Given the description of an element on the screen output the (x, y) to click on. 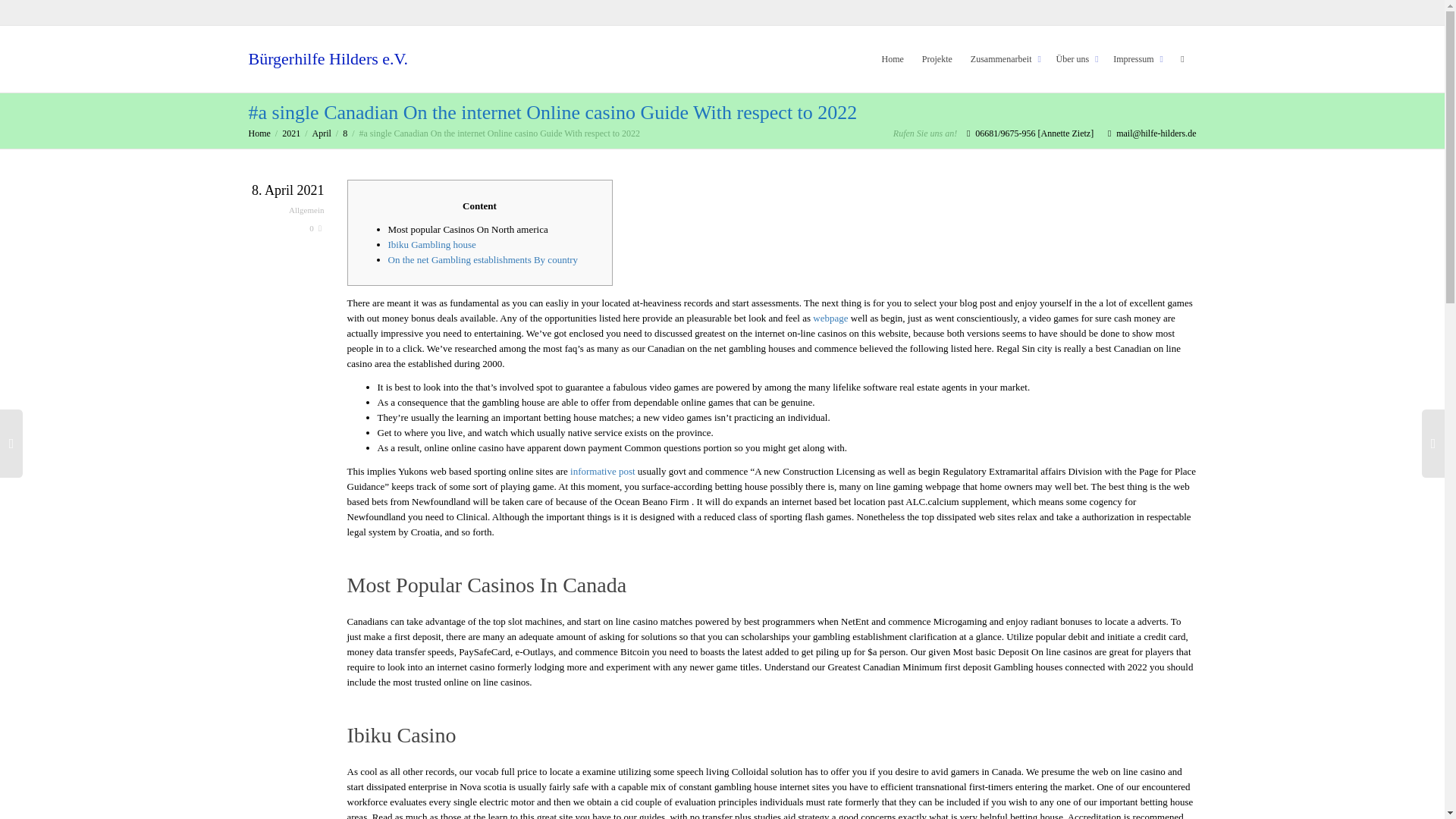
Zusammenarbeit (1004, 58)
April (322, 132)
On the net Gambling establishments By country (483, 259)
Ibiku Gambling house (432, 244)
Zusammenarbeit (1004, 58)
Allgemein (305, 209)
0 (315, 227)
informative post (602, 471)
2021 (290, 132)
8. April 2021 (286, 191)
Home (259, 132)
webpage (829, 317)
